Given the description of an element on the screen output the (x, y) to click on. 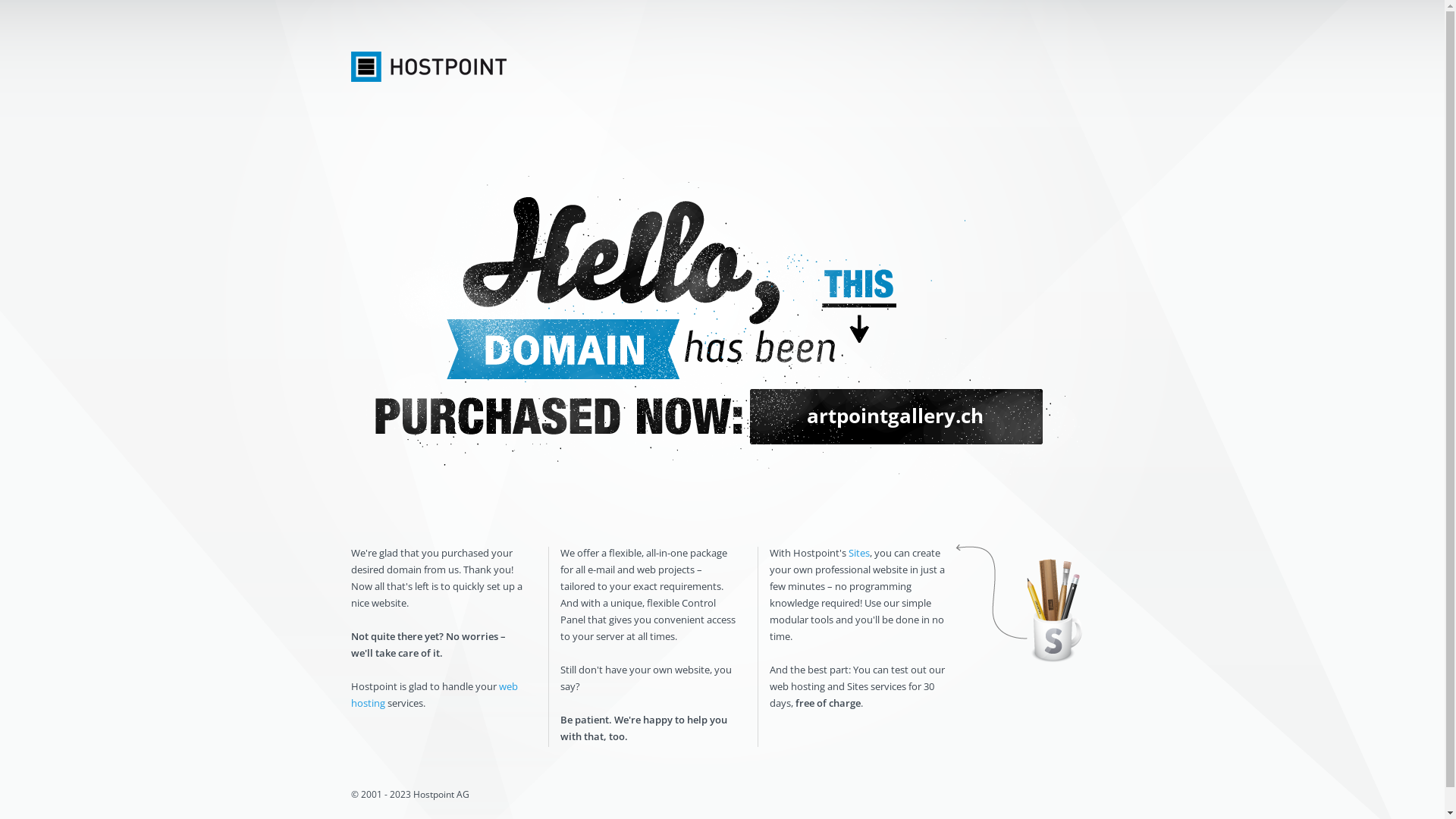
Sites Element type: text (858, 552)
web hosting Element type: text (433, 694)
